Given the description of an element on the screen output the (x, y) to click on. 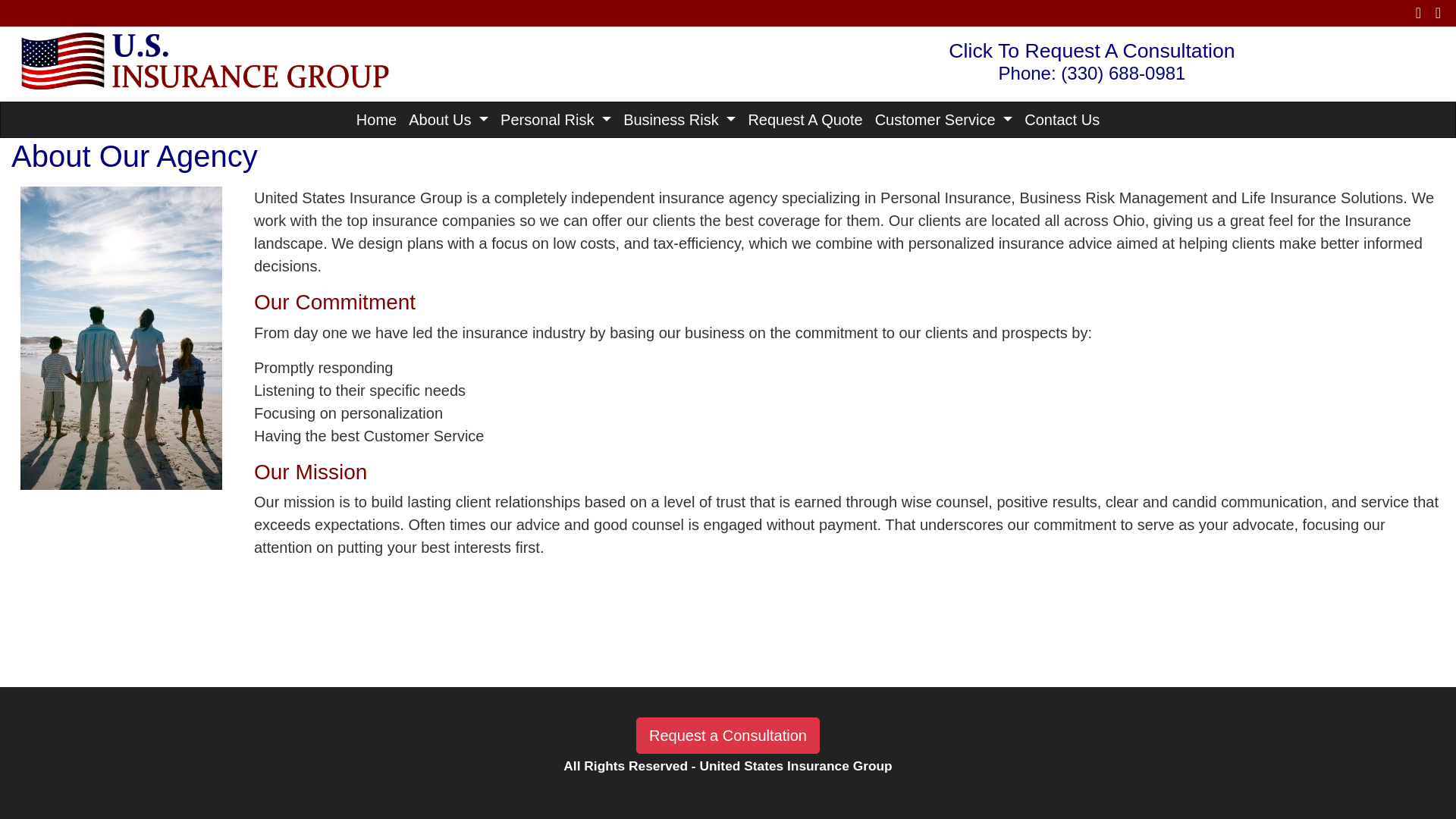
United States Insurance Group (199, 59)
About Us (449, 119)
Personal Risk (556, 119)
Business Risk (679, 119)
Request A Quote (804, 119)
Click To Request A Consultation (1091, 50)
Home (376, 119)
